Given the description of an element on the screen output the (x, y) to click on. 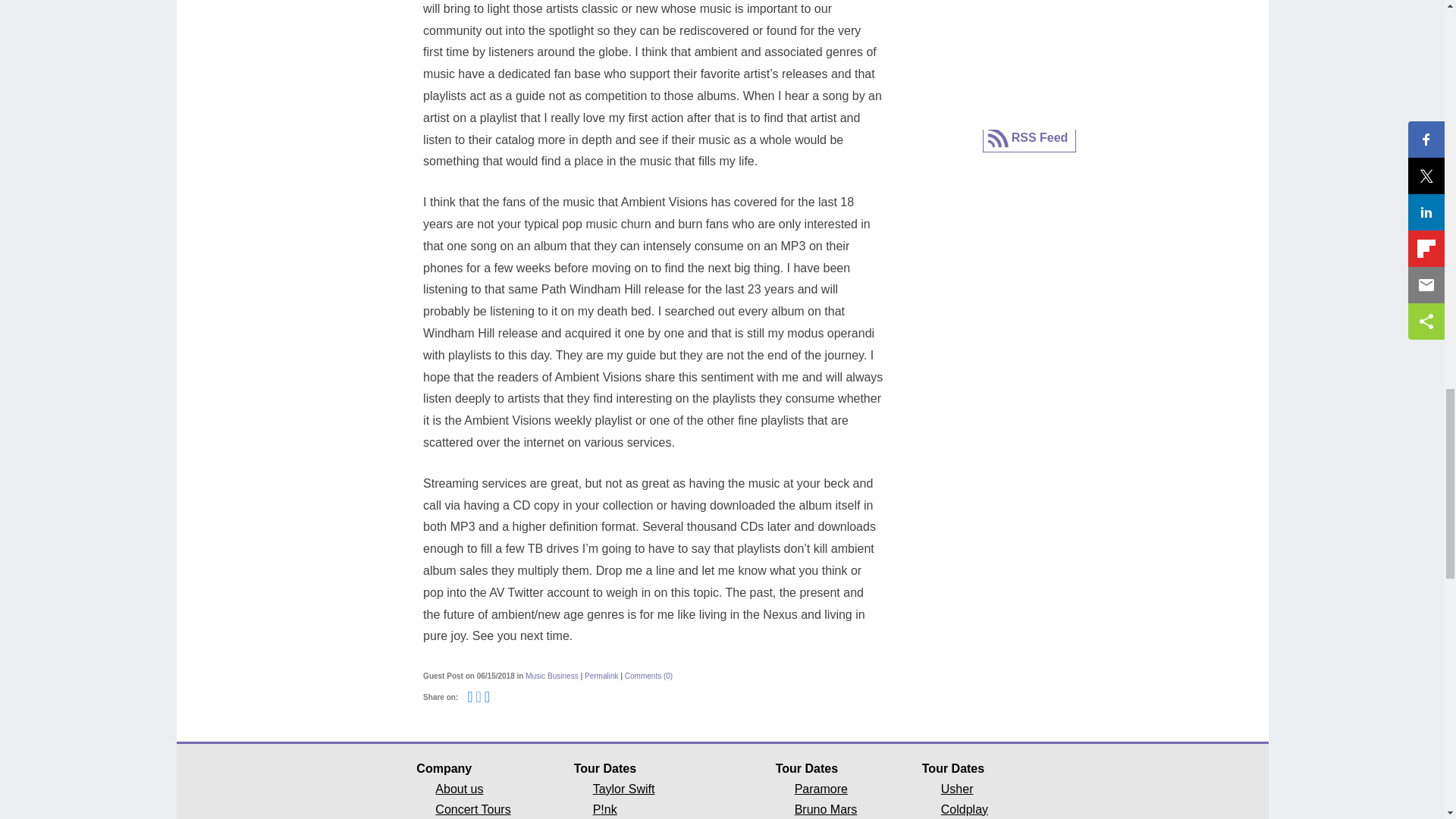
Do Playlists Kill Album Sales Or Multiply Them? (601, 675)
LinkedIn (487, 695)
Do Playlists Kill Album Sales Or Multiply Them? (648, 675)
Facebook (469, 695)
Twitter (478, 695)
View all posts in Music Business (551, 675)
